Given the description of an element on the screen output the (x, y) to click on. 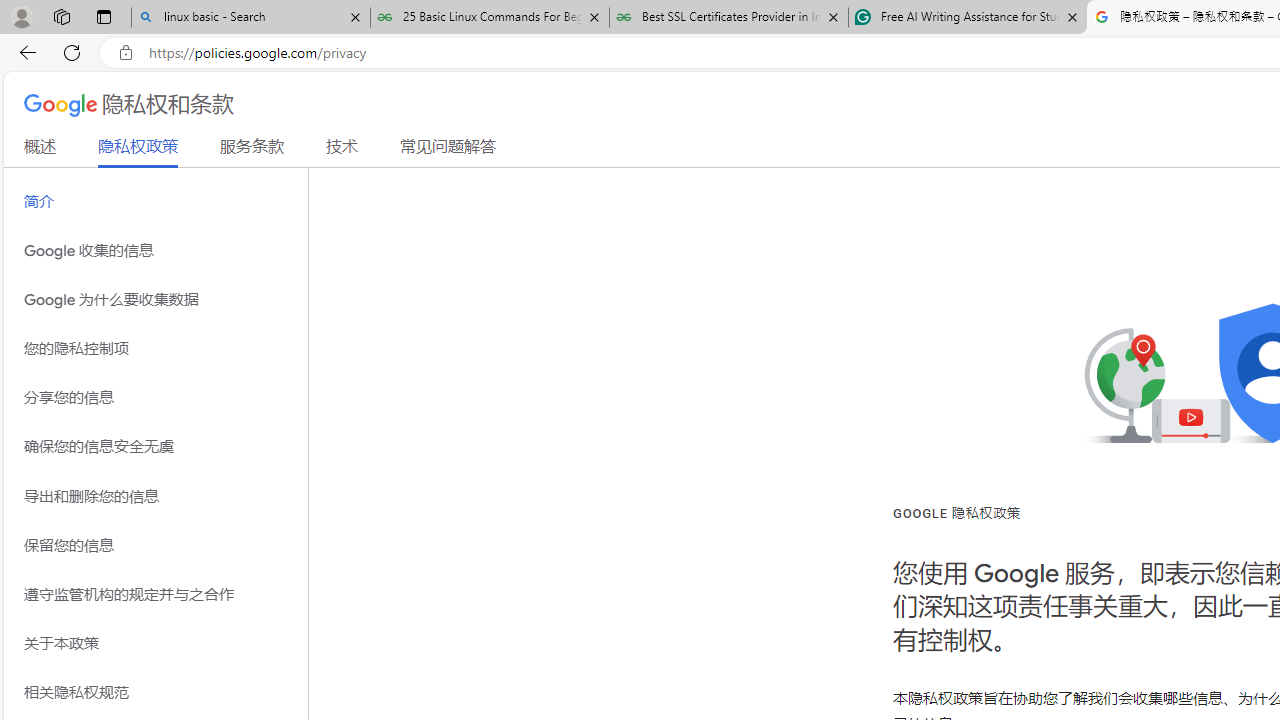
Free AI Writing Assistance for Students | Grammarly (967, 17)
linux basic - Search (250, 17)
